Given the description of an element on the screen output the (x, y) to click on. 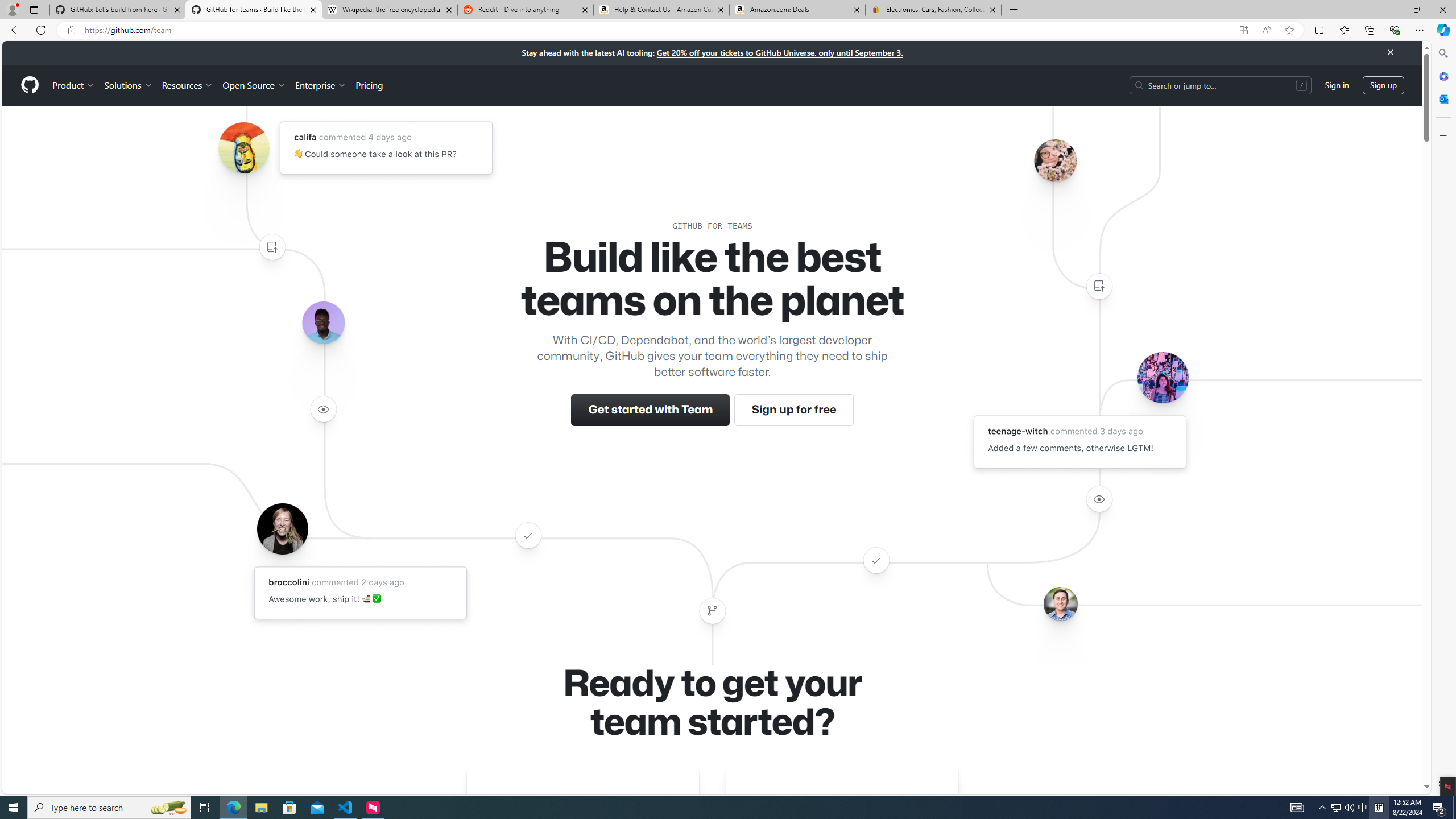
Get started with Team (650, 409)
Help & Contact Us - Amazon Customer Service (660, 9)
Reddit - Dive into anything (525, 9)
Avatar of the user teenage-witch (1162, 376)
Sign up for free (793, 409)
Solutions (128, 84)
Resources (187, 84)
Sign up (1382, 84)
Avatar of the user califa (243, 147)
